Given the description of an element on the screen output the (x, y) to click on. 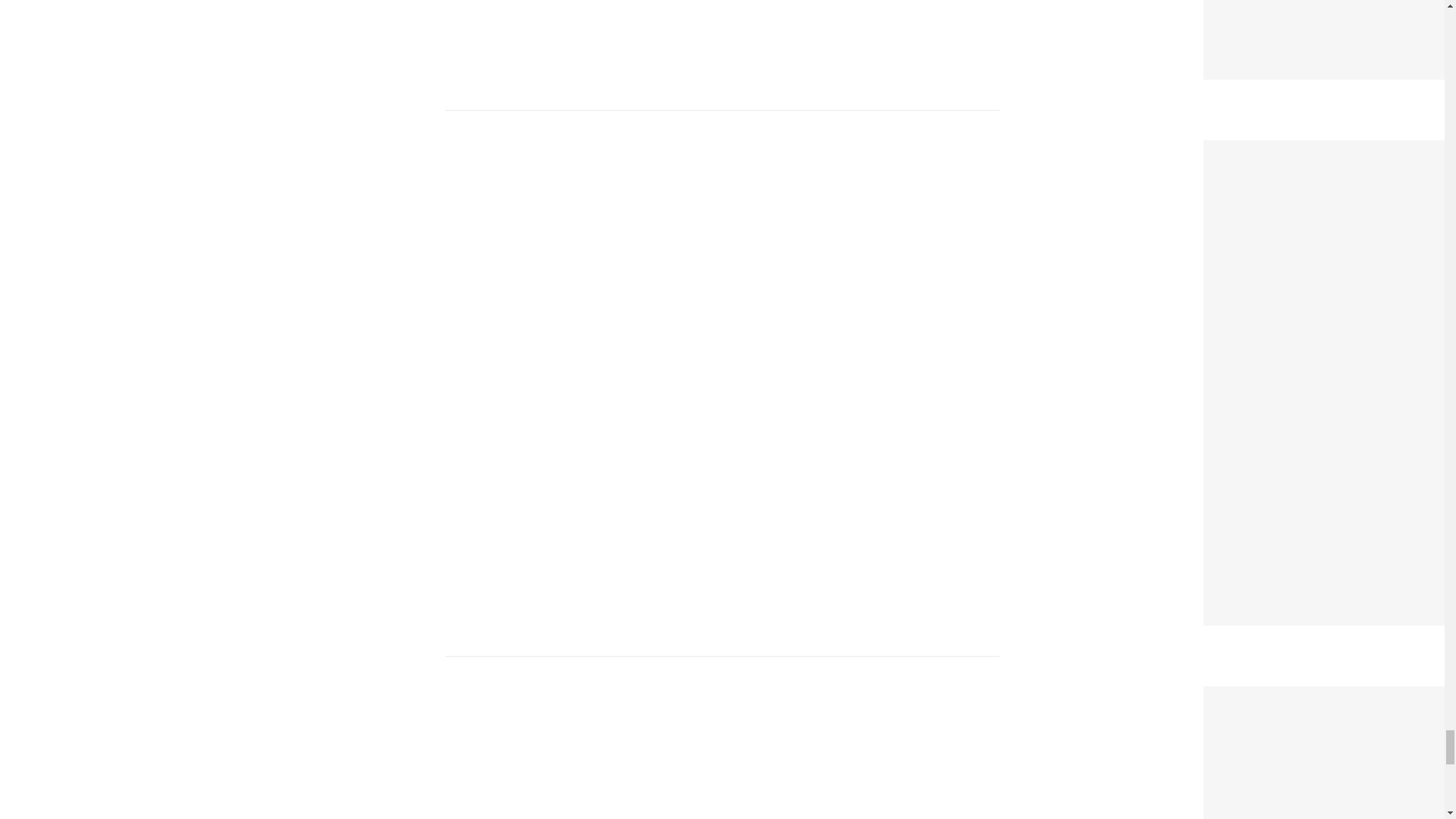
Christmas Wallpaper Laptop Polar Express (1330, 150)
Pink Hello Kitty Christmas Wallpaper (1323, 695)
